Given the description of an element on the screen output the (x, y) to click on. 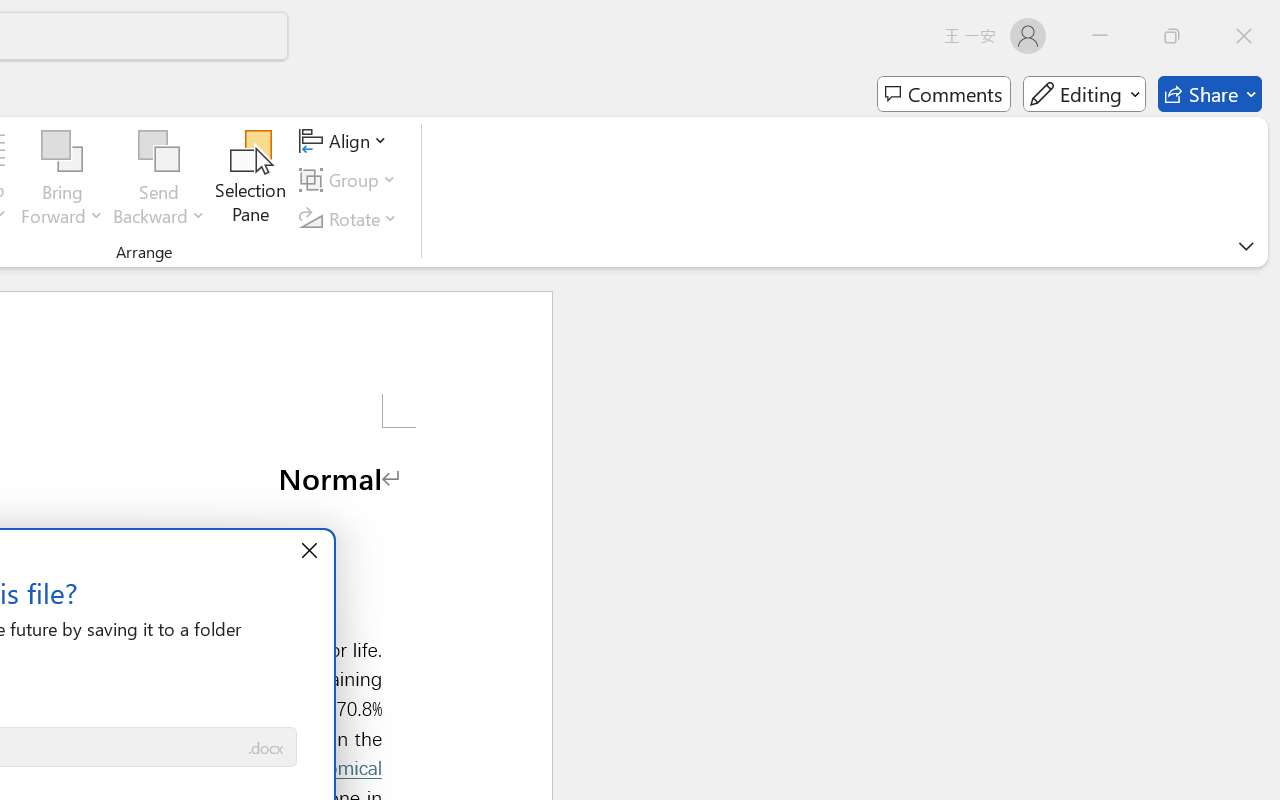
Bring Forward (62, 151)
Send Backward (159, 151)
Rotate (351, 218)
